Given the description of an element on the screen output the (x, y) to click on. 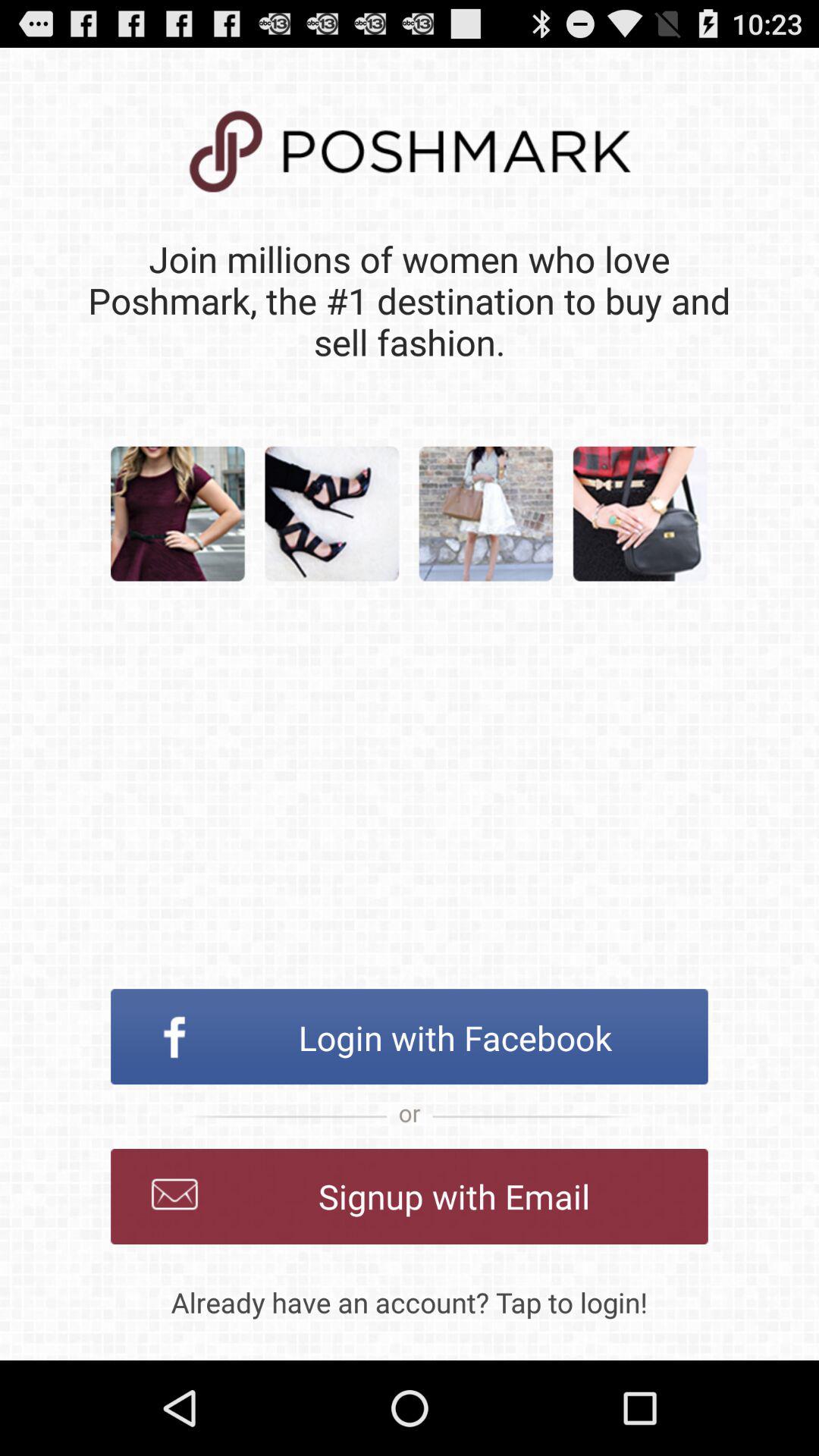
press the already have an item (409, 1302)
